Given the description of an element on the screen output the (x, y) to click on. 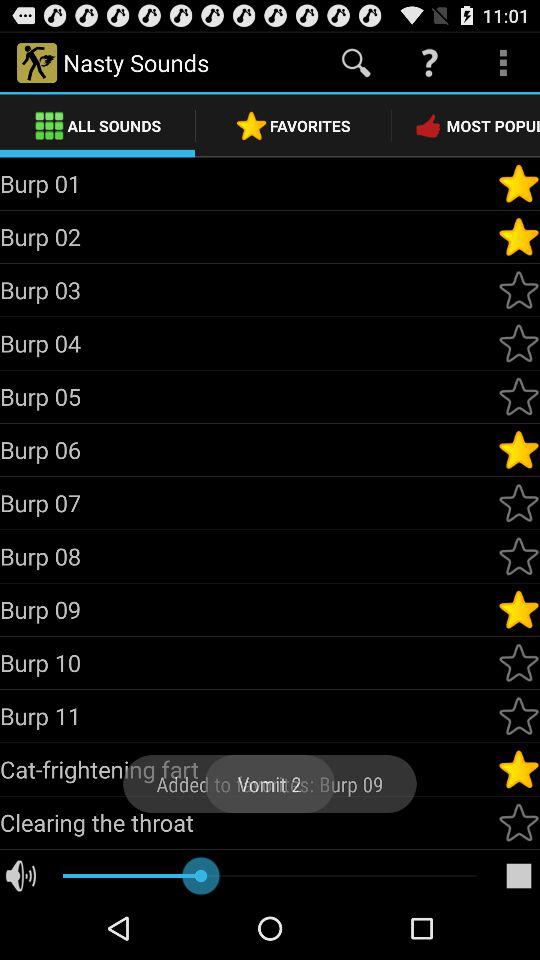
launch burp 05 (248, 396)
